Given the description of an element on the screen output the (x, y) to click on. 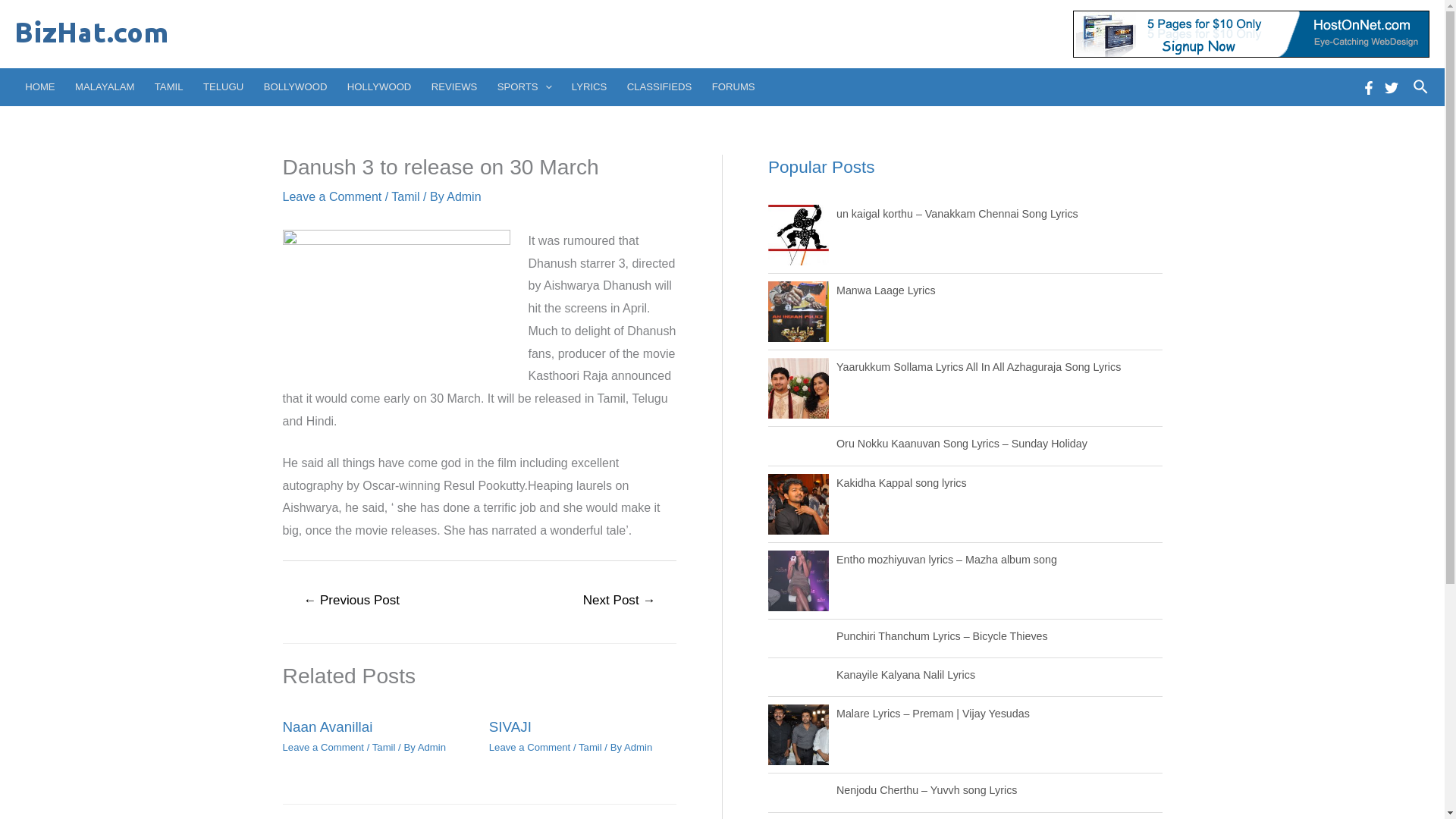
CLASSIFIEDS (659, 86)
TAMIL (168, 86)
BOLLYWOOD (294, 86)
TELUGU (223, 86)
HOLLYWOOD (379, 86)
REVIEWS (454, 86)
View all posts by Admin (431, 747)
HOME (39, 86)
FORUMS (732, 86)
View all posts by Admin (463, 196)
LYRICS (589, 86)
3-movie-stills (395, 301)
View all posts by Admin (638, 747)
SPORTS (524, 86)
MALAYALAM (104, 86)
